Given the description of an element on the screen output the (x, y) to click on. 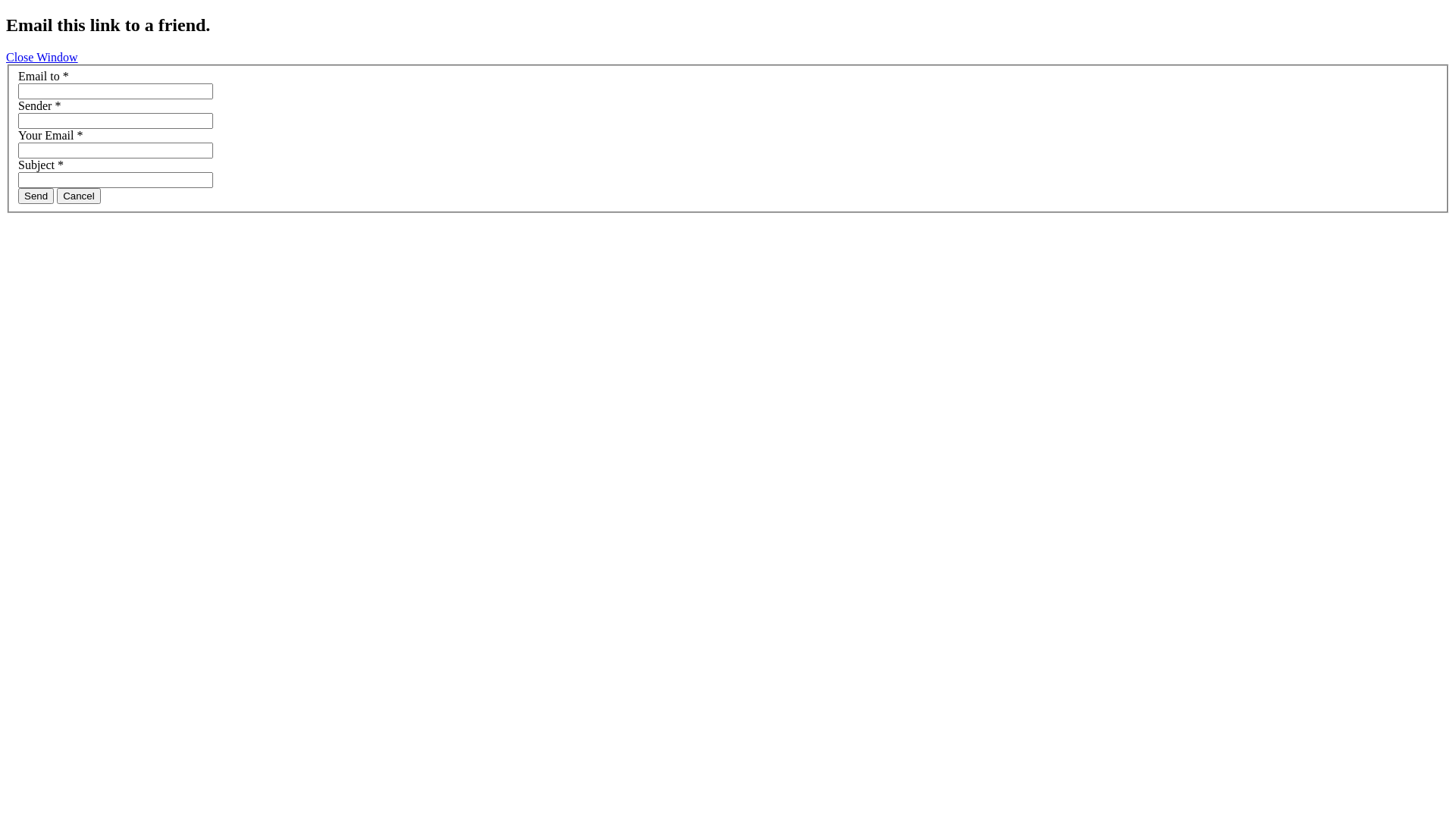
Cancel Element type: text (78, 195)
Close Window Element type: text (42, 56)
Send Element type: text (35, 195)
